Given the description of an element on the screen output the (x, y) to click on. 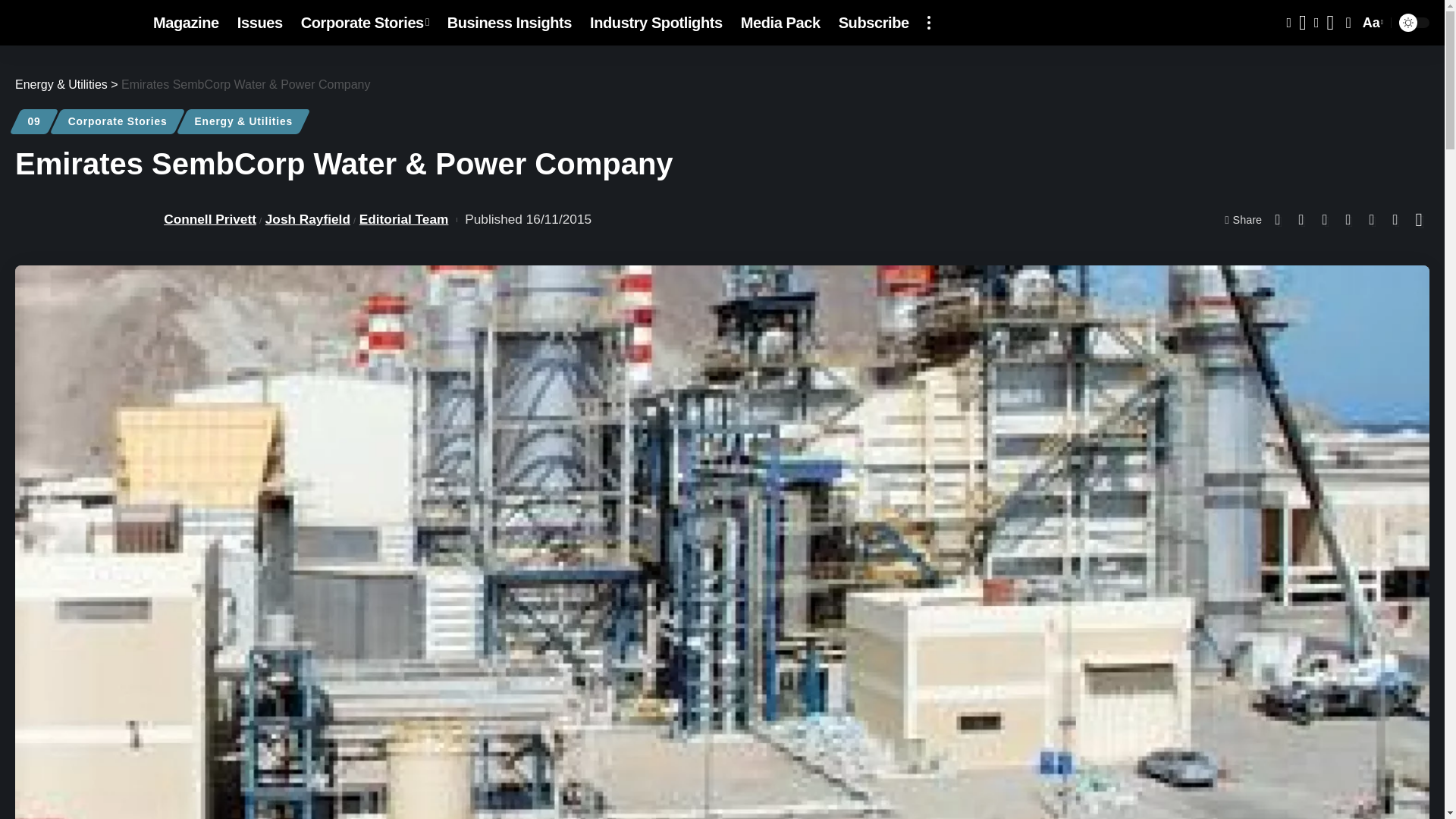
Corporate Stories (365, 22)
Subscribe to EME Outlook Magazine (873, 22)
Magazine (186, 22)
Business Insights (509, 22)
EME Outlook Magazine (71, 22)
Media Pack (780, 22)
Industry Spotlights (656, 22)
Subscribe (873, 22)
Issues (260, 22)
